Given the description of an element on the screen output the (x, y) to click on. 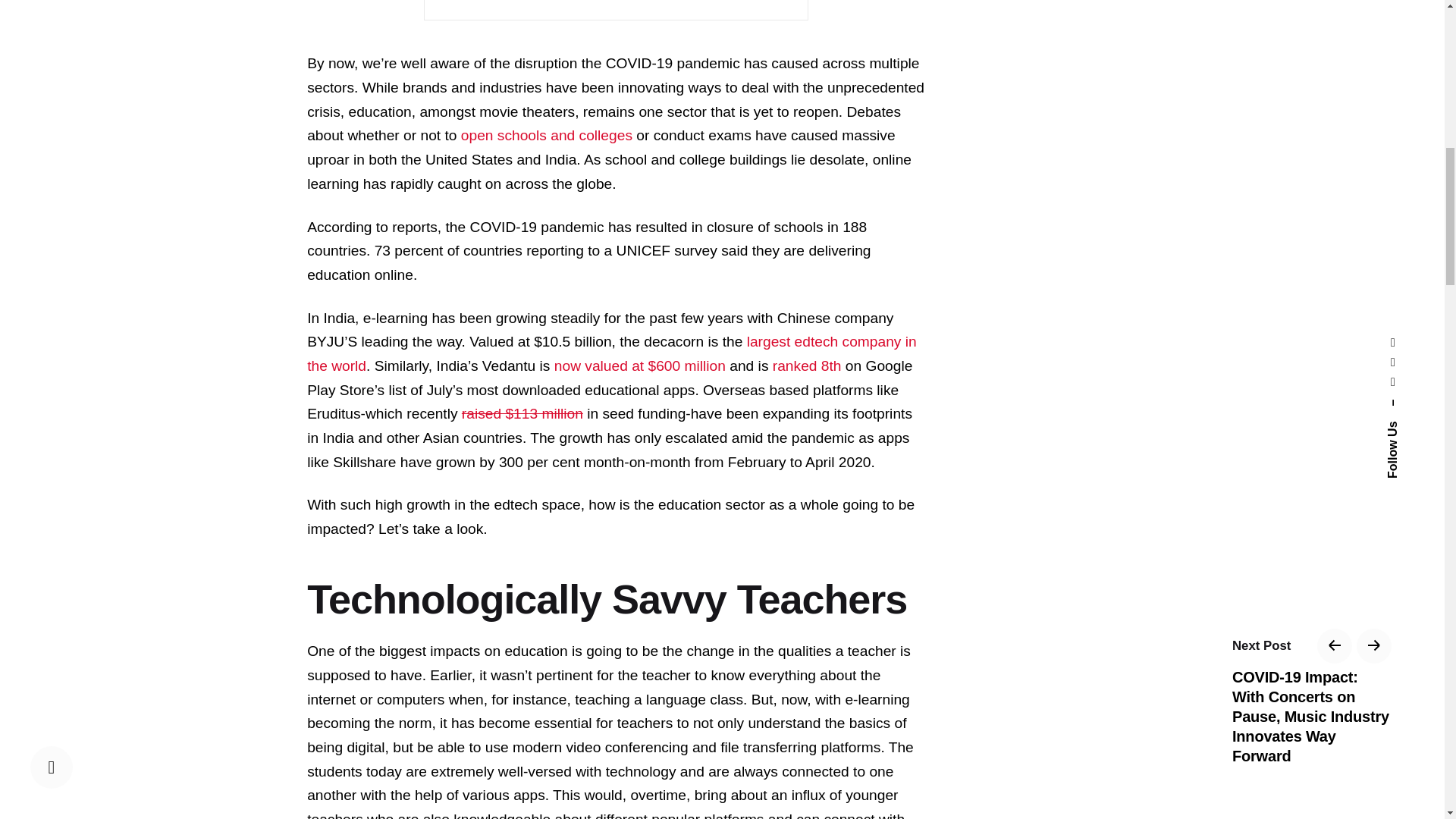
ranked 8th (807, 365)
largest edtech company in the world (612, 353)
open schools and colleges (546, 135)
